Given the description of an element on the screen output the (x, y) to click on. 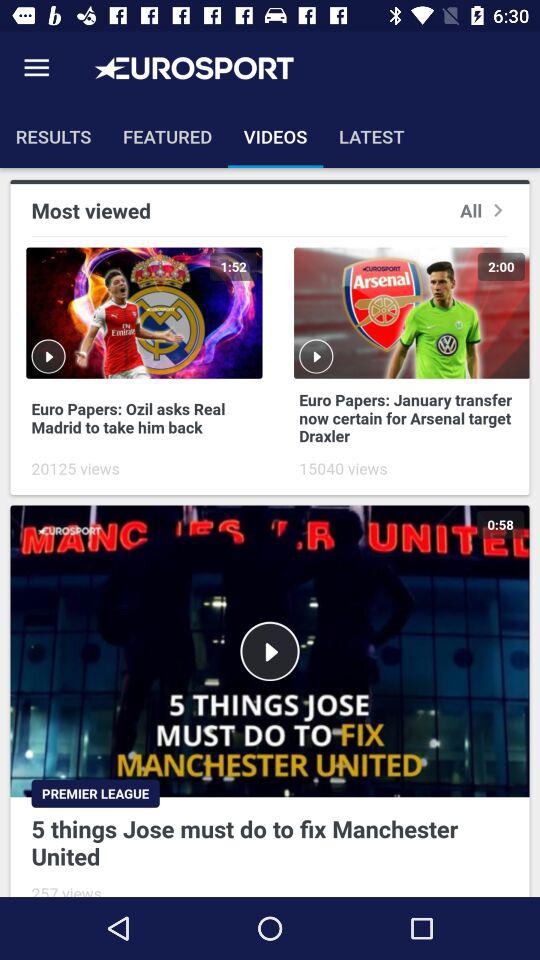
turn off item above results (36, 68)
